Given the description of an element on the screen output the (x, y) to click on. 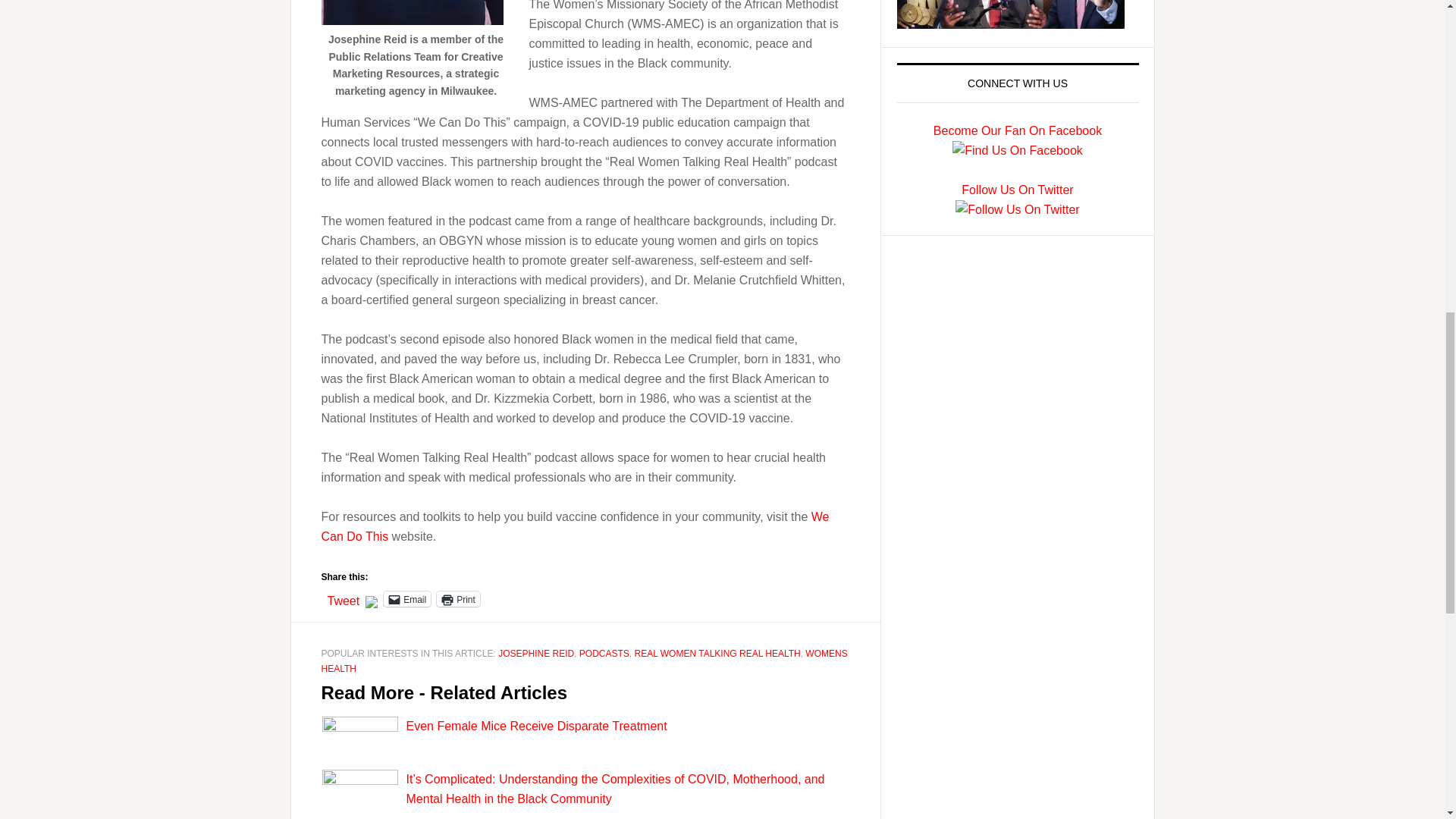
Print (458, 598)
Click to print (458, 598)
Even Female Mice Receive Disparate Treatment (536, 725)
We Can Do This (575, 526)
Tweet (343, 598)
JOSEPHINE REID (535, 653)
Email (407, 598)
REAL WOMEN TALKING REAL HEALTH (717, 653)
Even Female Mice Receive Disparate Treatment (536, 725)
PODCASTS (603, 653)
Click to email a link to a friend (407, 598)
WOMENS HEALTH (584, 661)
